Given the description of an element on the screen output the (x, y) to click on. 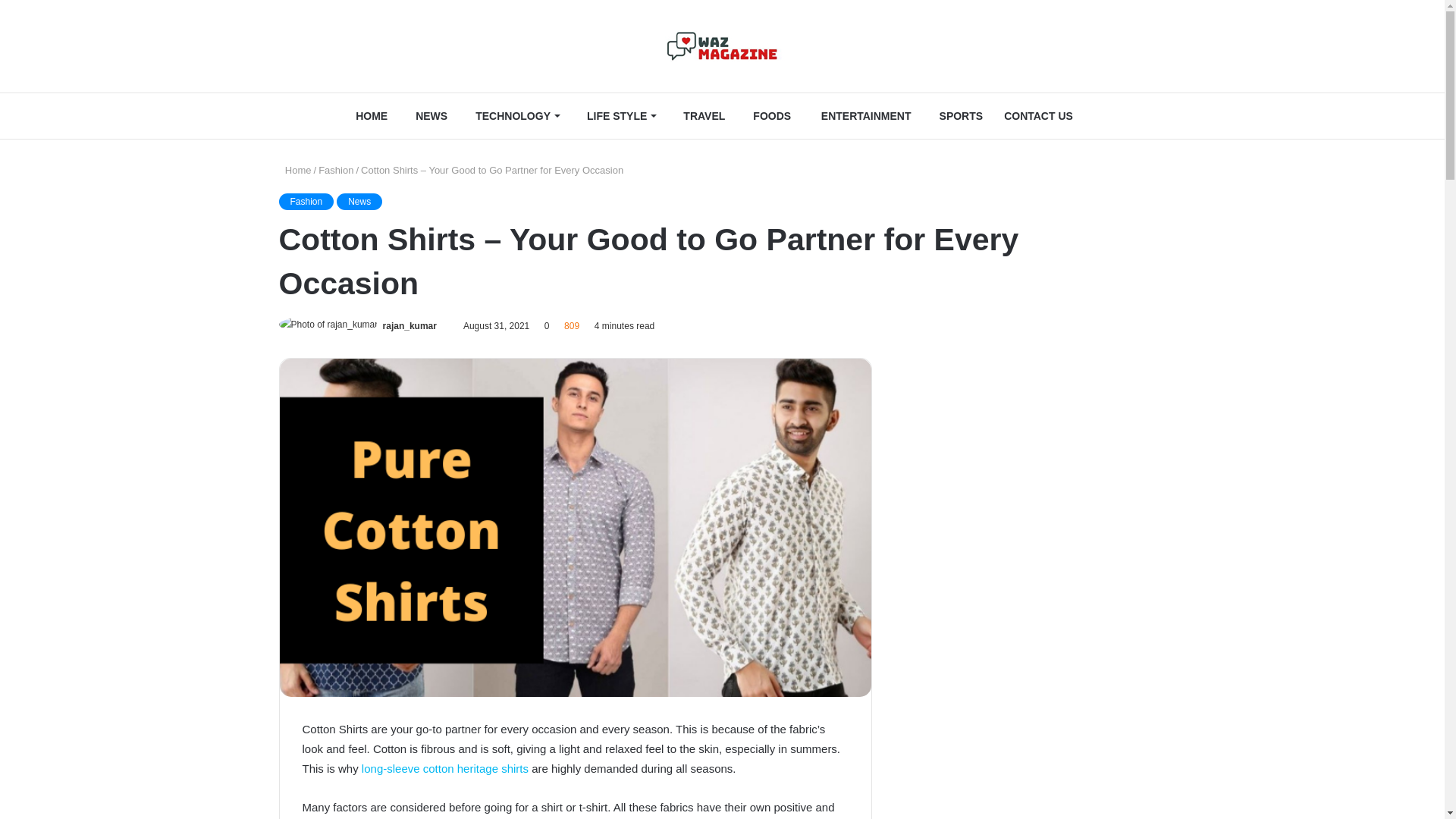
News (358, 201)
NEWS (427, 115)
TECHNOLOGY (513, 115)
long-sleeve cotton heritage shirts (444, 768)
CONTACT US (1037, 115)
LIFE STYLE (617, 115)
WazMagazine.com (721, 46)
HOME (367, 115)
ENTERTAINMENT (861, 115)
FOODS (768, 115)
